Given the description of an element on the screen output the (x, y) to click on. 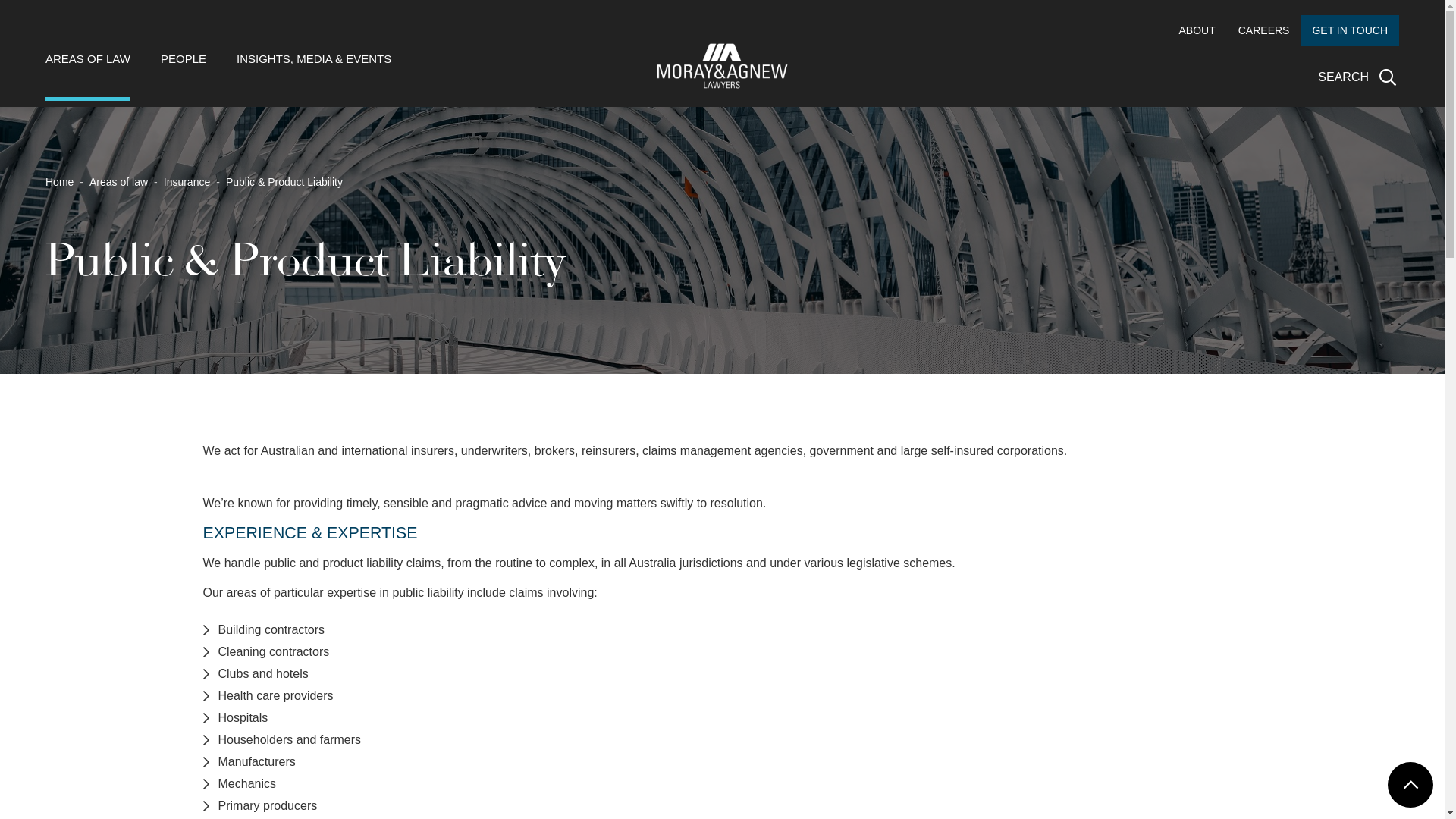
PEOPLE Element type: text (183, 75)
AREAS OF LAW Element type: text (87, 75)
Navigate to home page Element type: text (721, 65)
INSIGHTS, MEDIA & EVENTS Element type: text (313, 75)
SEARCH Element type: text (1358, 77)
Areas of law Element type: text (118, 182)
Home Element type: text (59, 182)
CAREERS Element type: text (1263, 30)
GET IN TOUCH Element type: text (1349, 30)
Insurance Element type: text (186, 182)
ABOUT Element type: text (1196, 30)
